Given the description of an element on the screen output the (x, y) to click on. 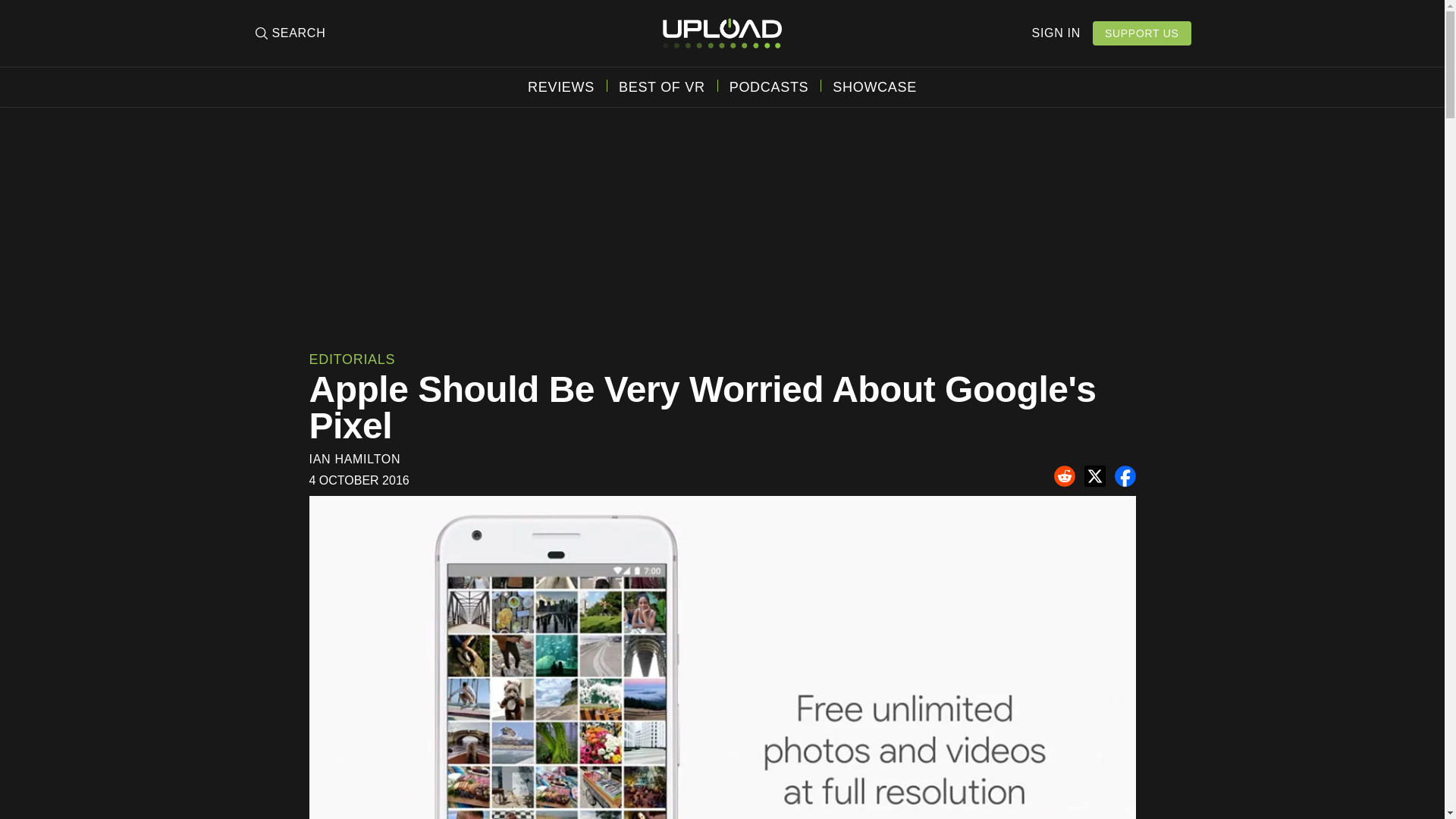
SUPPORT US (1142, 33)
Share to Reddit (1064, 476)
Share to Twitter (1094, 476)
SHOWCASE (874, 87)
Share to Facebook (1125, 476)
REVIEWS (560, 87)
PODCASTS (769, 87)
IAN HAMILTON (354, 459)
BEST OF VR (661, 87)
SEARCH (288, 32)
EDITORIALS (352, 359)
SIGN IN (1056, 32)
